Given the description of an element on the screen output the (x, y) to click on. 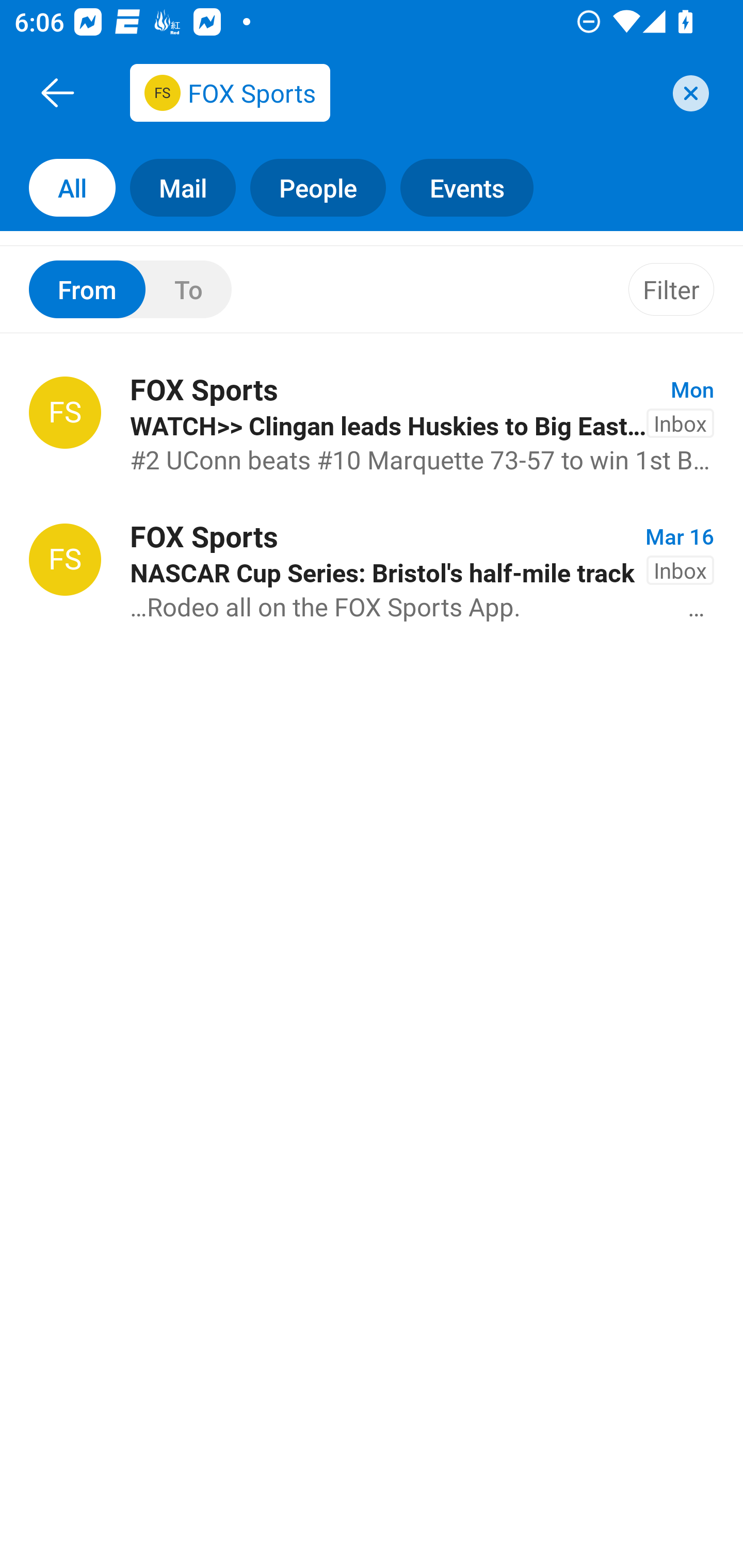
Back (57, 92)
email@inbox.foxsports.com  (394, 92)
clear search (687, 93)
Mail (175, 187)
People (310, 187)
Events (473, 187)
Toggle to search emails to the person (129, 289)
Filter (671, 289)
